Given the description of an element on the screen output the (x, y) to click on. 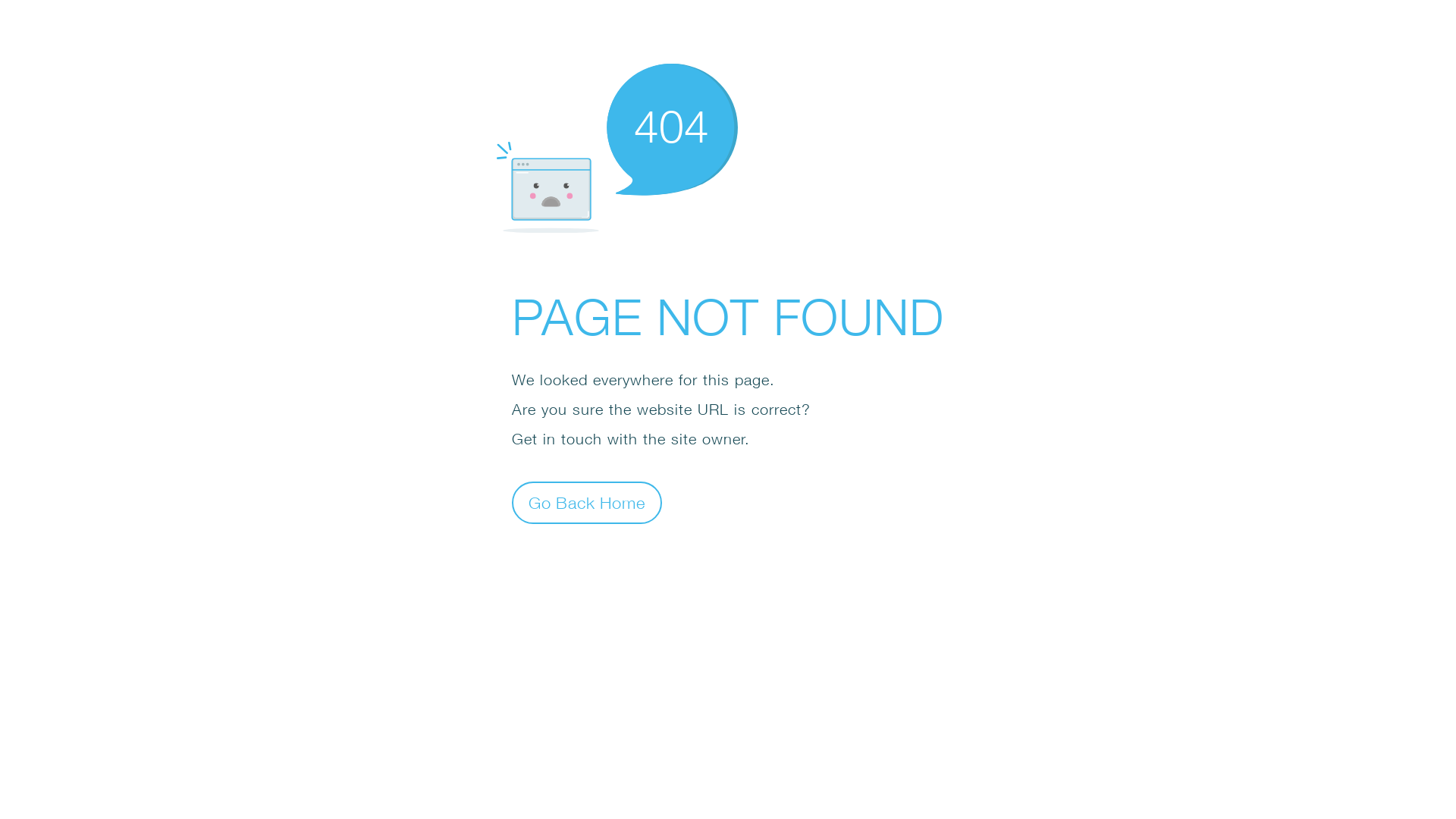
Go Back Home Element type: text (586, 502)
